Given the description of an element on the screen output the (x, y) to click on. 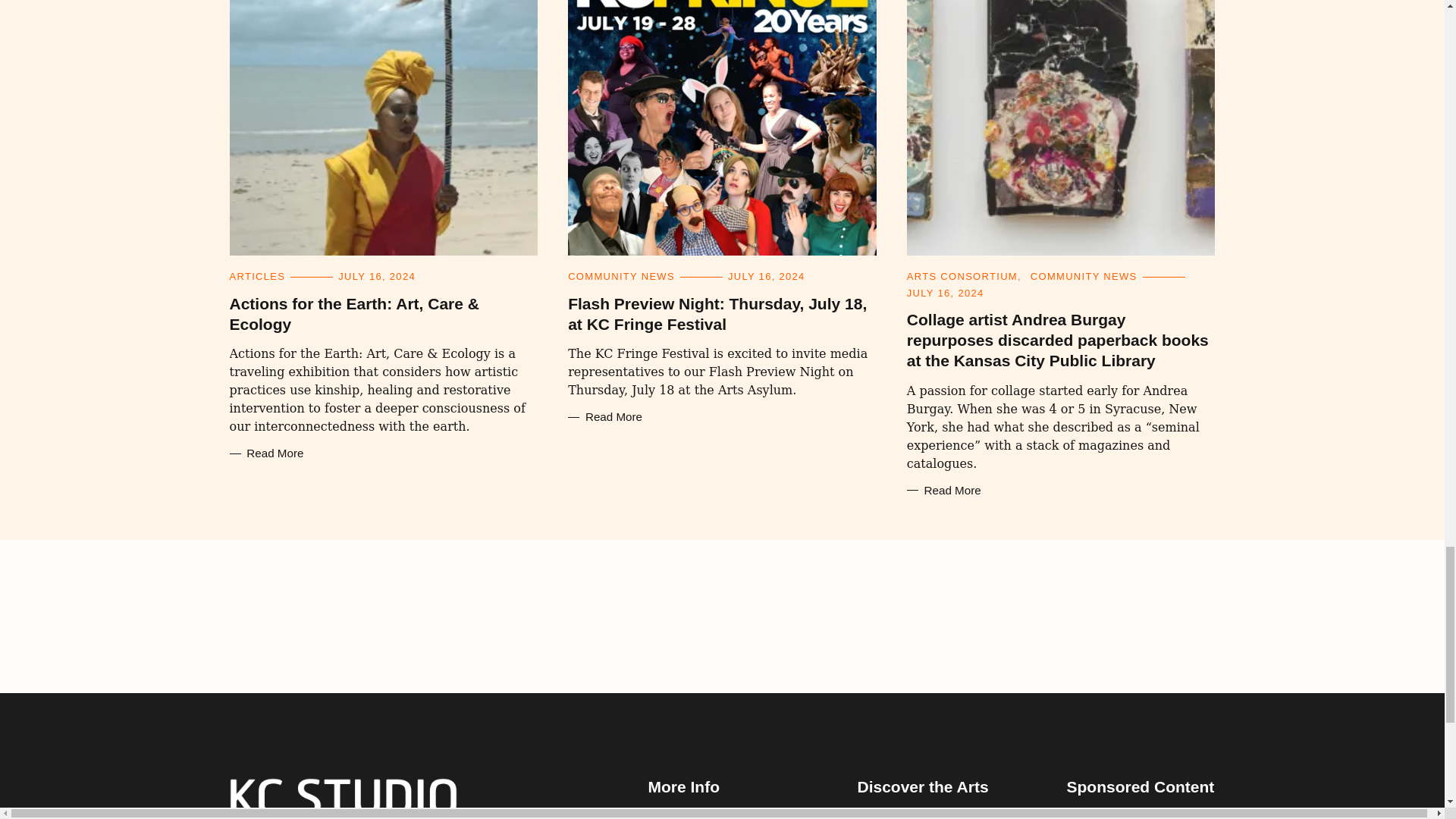
3rd party ad content (721, 616)
